Given the description of an element on the screen output the (x, y) to click on. 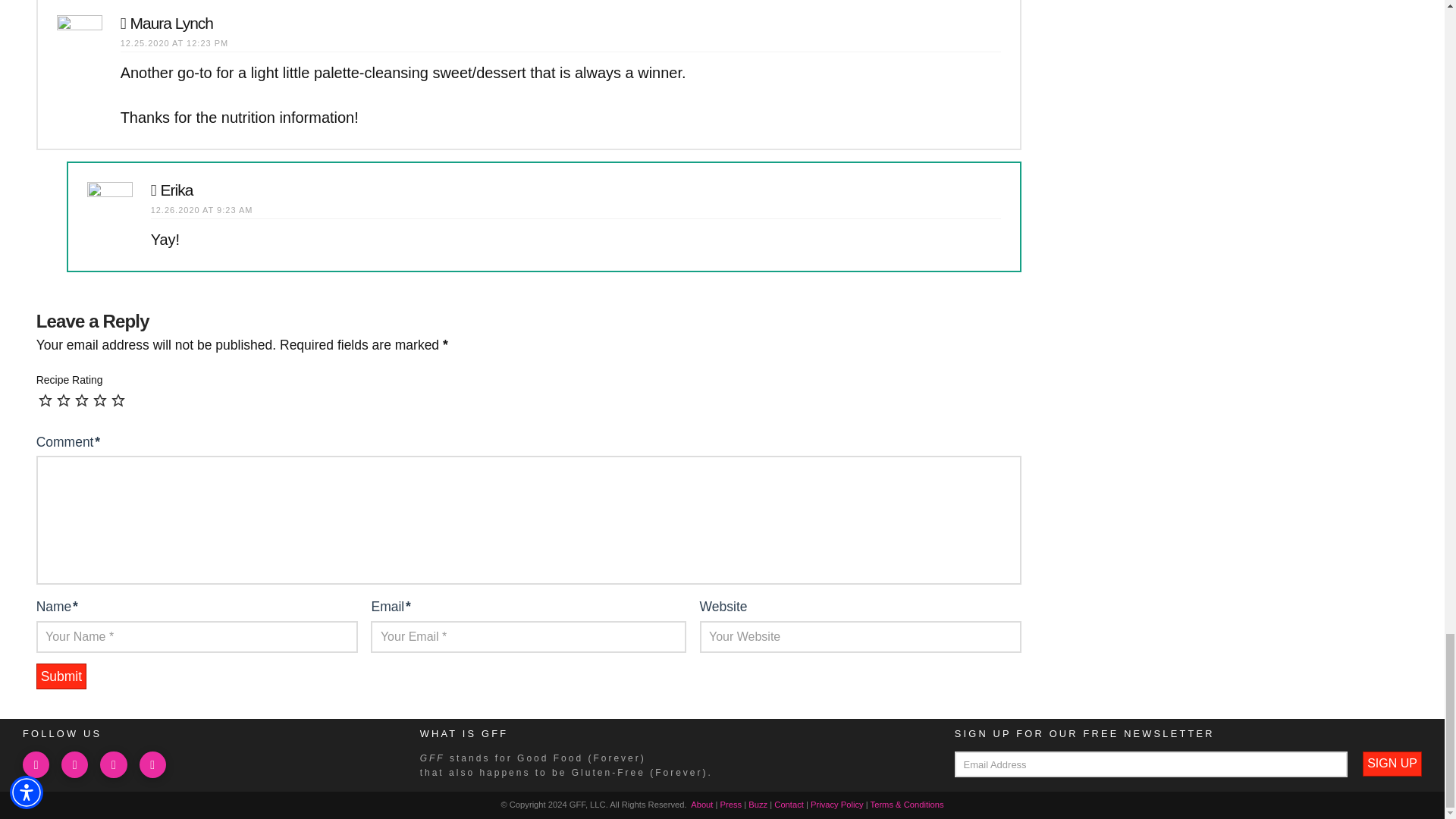
SIGN UP (1392, 763)
Submit (60, 675)
